Given the description of an element on the screen output the (x, y) to click on. 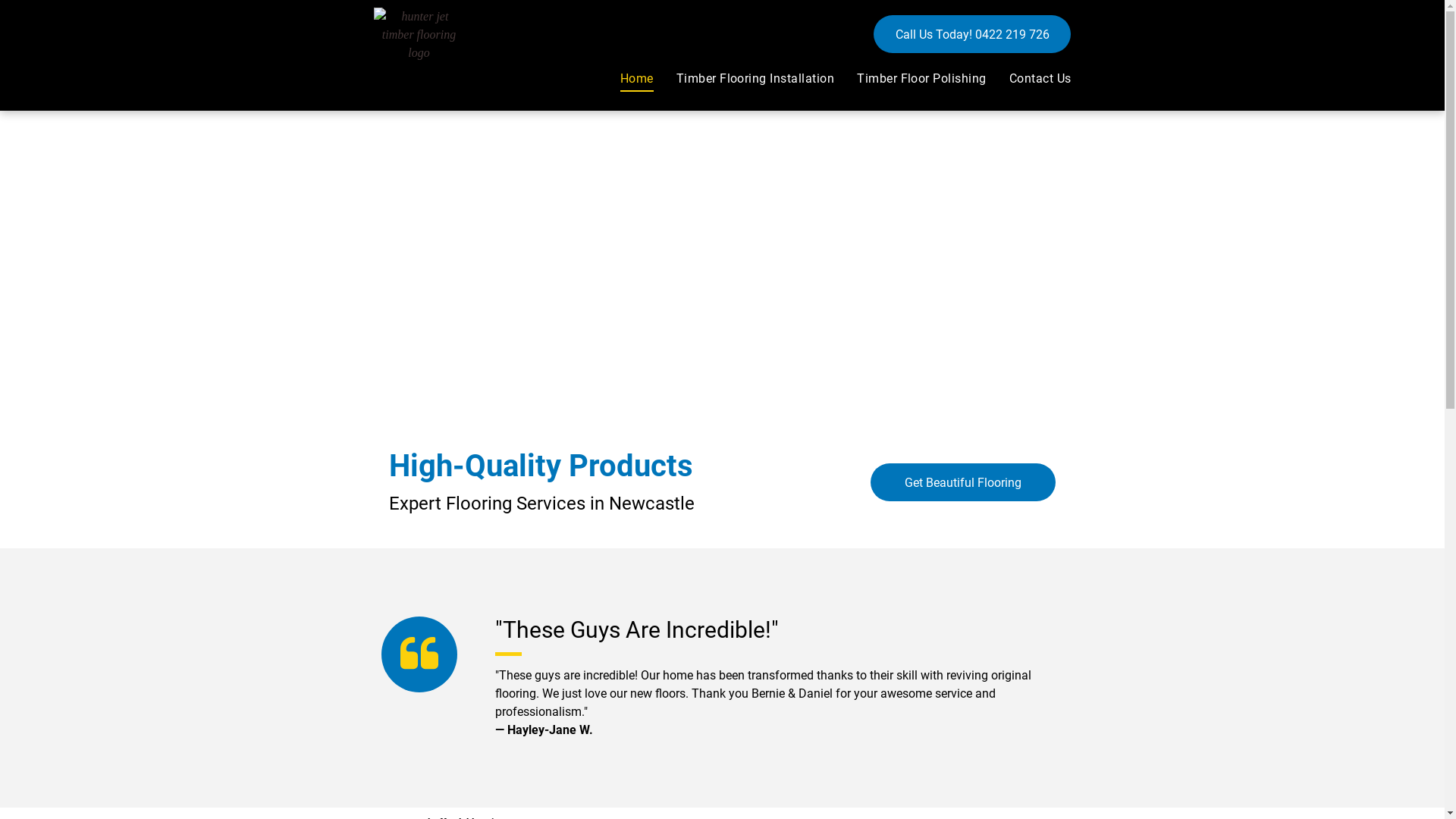
Get Beautiful Flooring Element type: text (962, 482)
Timber Floor Polishing Element type: text (910, 78)
Home Element type: text (625, 78)
Contact Us Element type: text (1028, 78)
Call Us Today! 0422 219 726 Element type: text (972, 34)
Timber Flooring Installation Element type: text (743, 78)
